Given the description of an element on the screen output the (x, y) to click on. 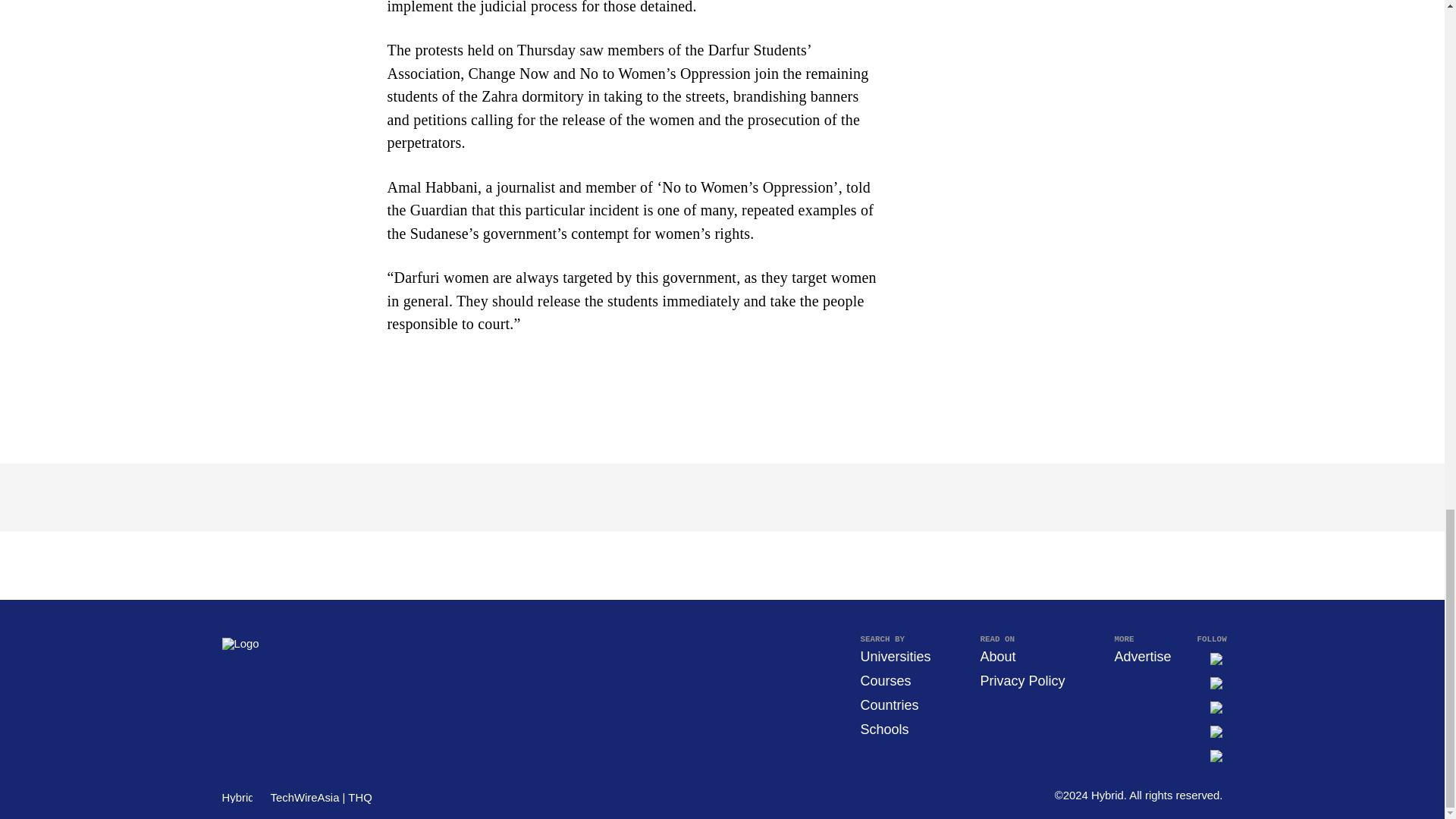
Countries (889, 704)
About (996, 656)
Schools (884, 729)
Universities (895, 656)
Privacy Policy (1021, 680)
Advertise (1141, 656)
Courses (885, 680)
